Given the description of an element on the screen output the (x, y) to click on. 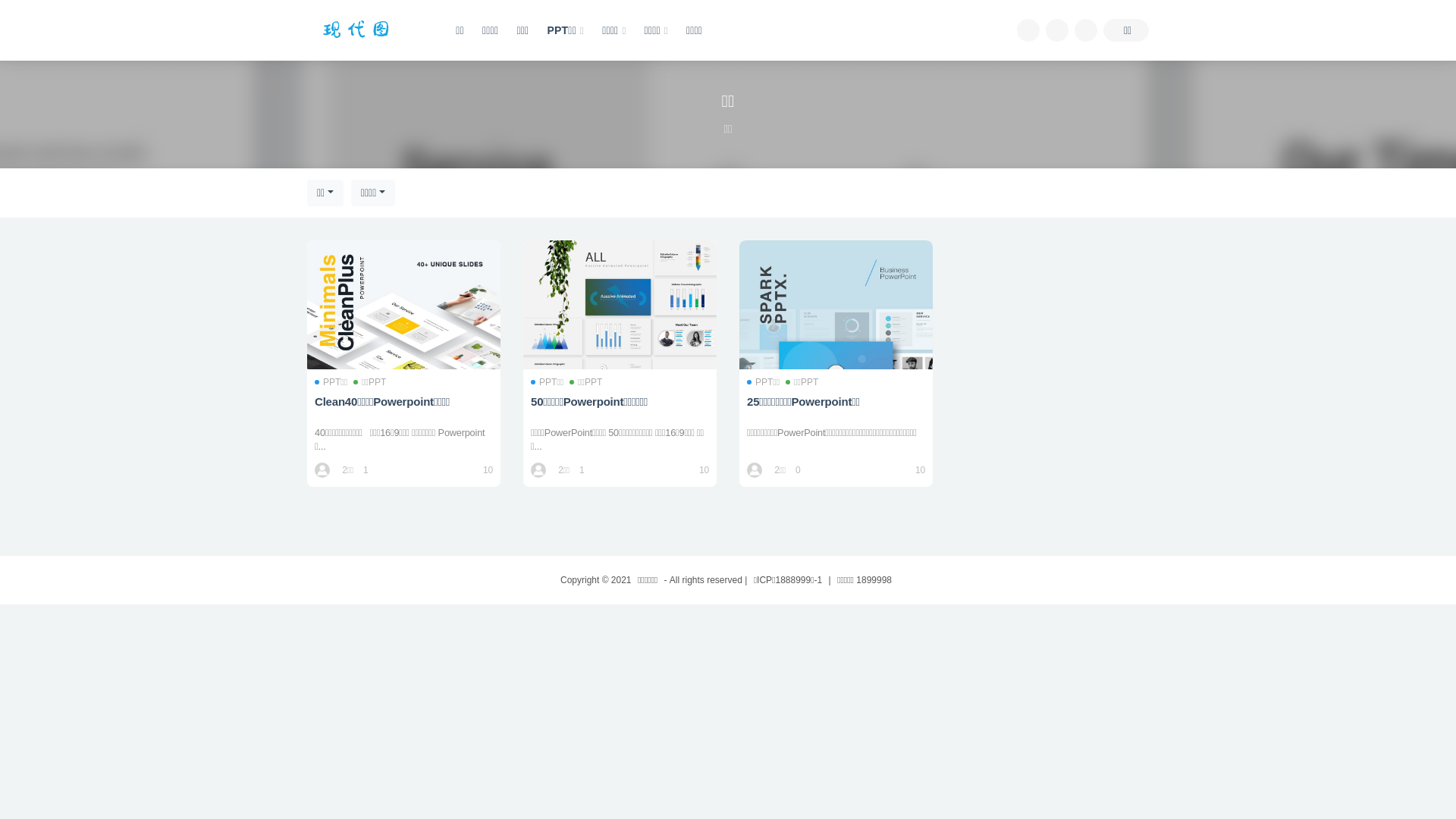
xdtu Element type: hover (323, 469)
xdtu Element type: hover (539, 469)
xdtu Element type: hover (755, 469)
